Given the description of an element on the screen output the (x, y) to click on. 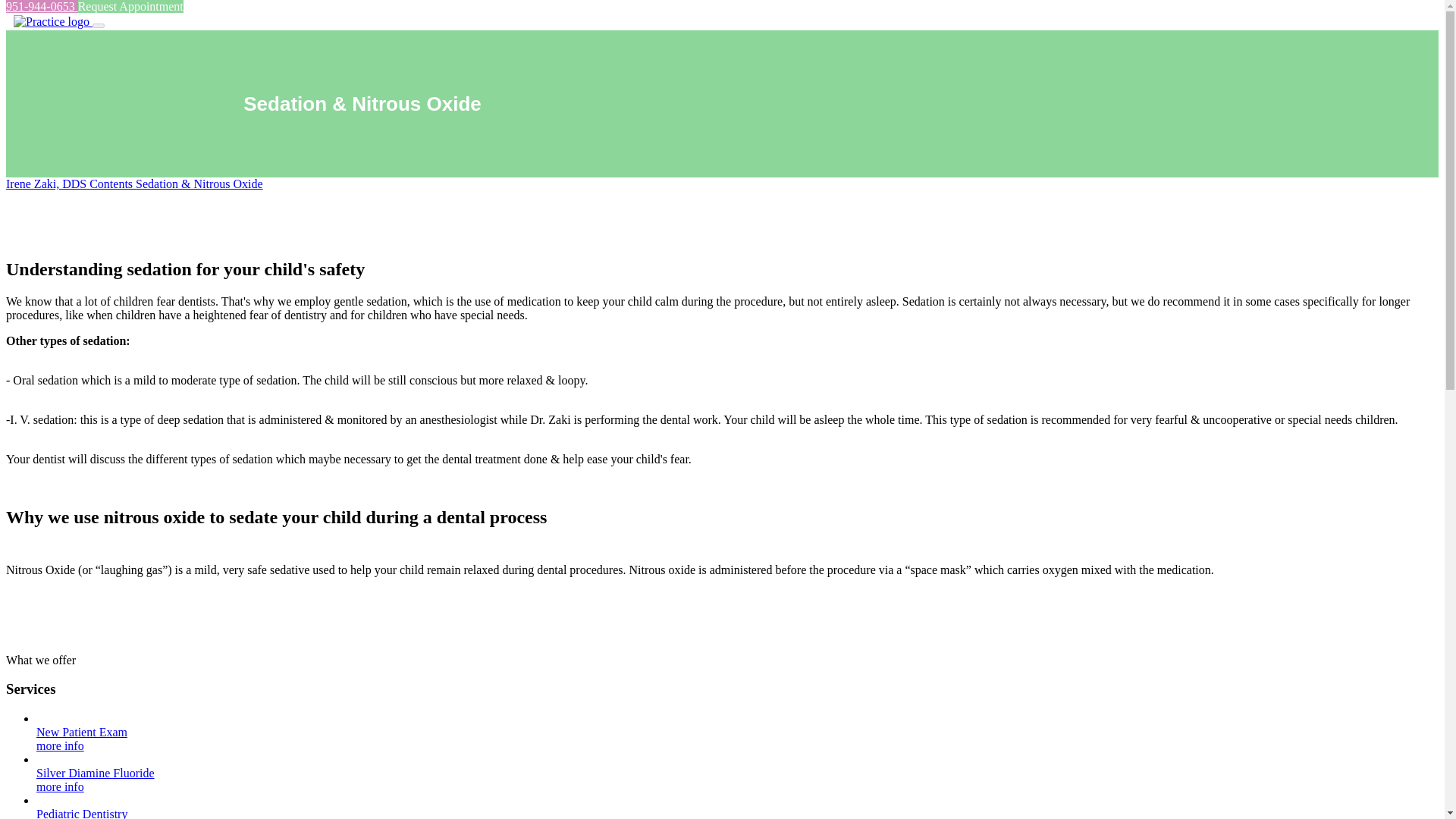
951-944-0653 (41, 6)
Contents (111, 183)
Irene Zaki, DDS (46, 183)
Request Appointment (130, 6)
